Given the description of an element on the screen output the (x, y) to click on. 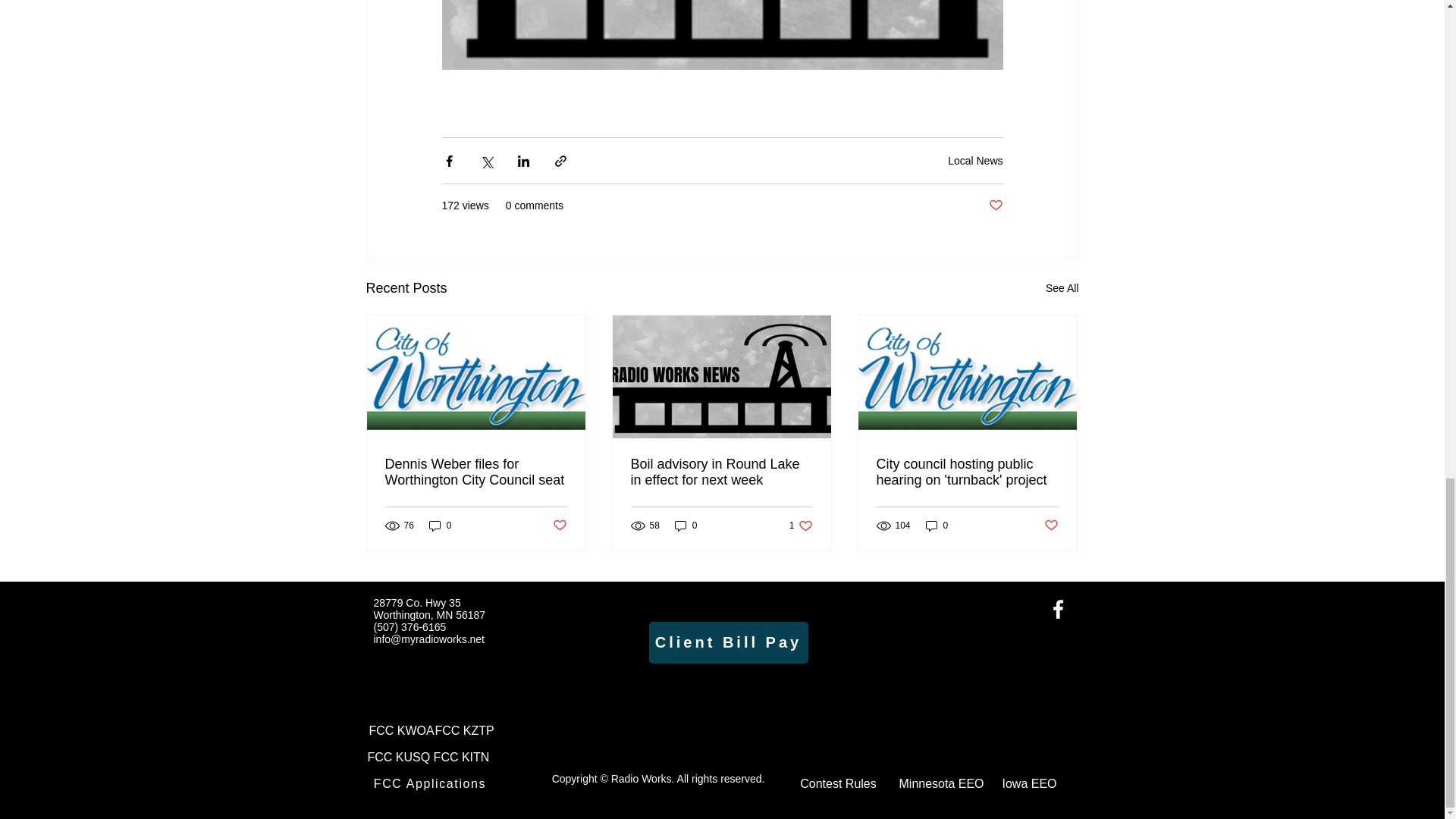
Dennis Weber files for Worthington City Council seat (476, 472)
See All (1061, 288)
Local News (975, 160)
Post not marked as liked (995, 205)
